Given the description of an element on the screen output the (x, y) to click on. 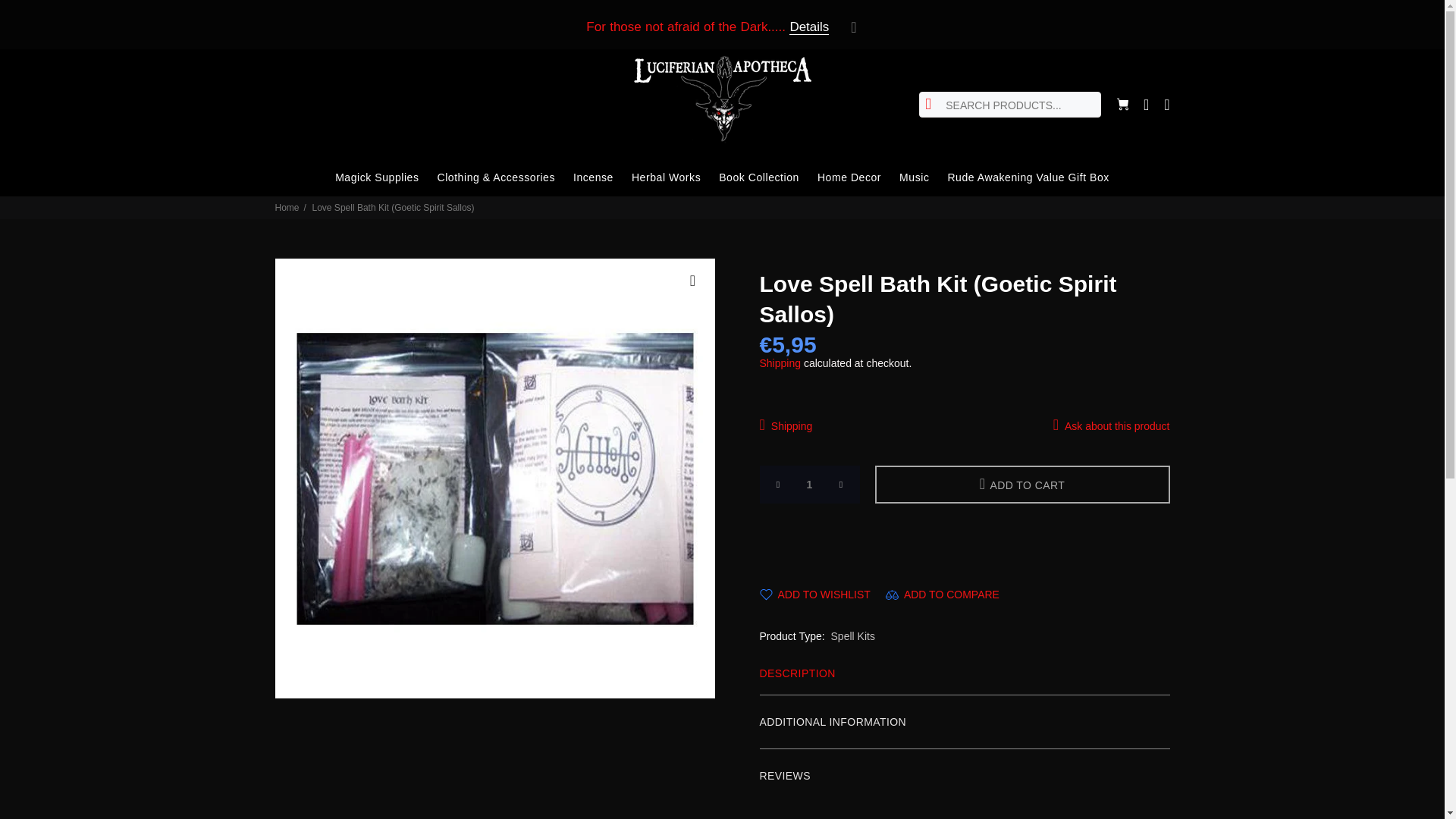
1 (810, 484)
